Given the description of an element on the screen output the (x, y) to click on. 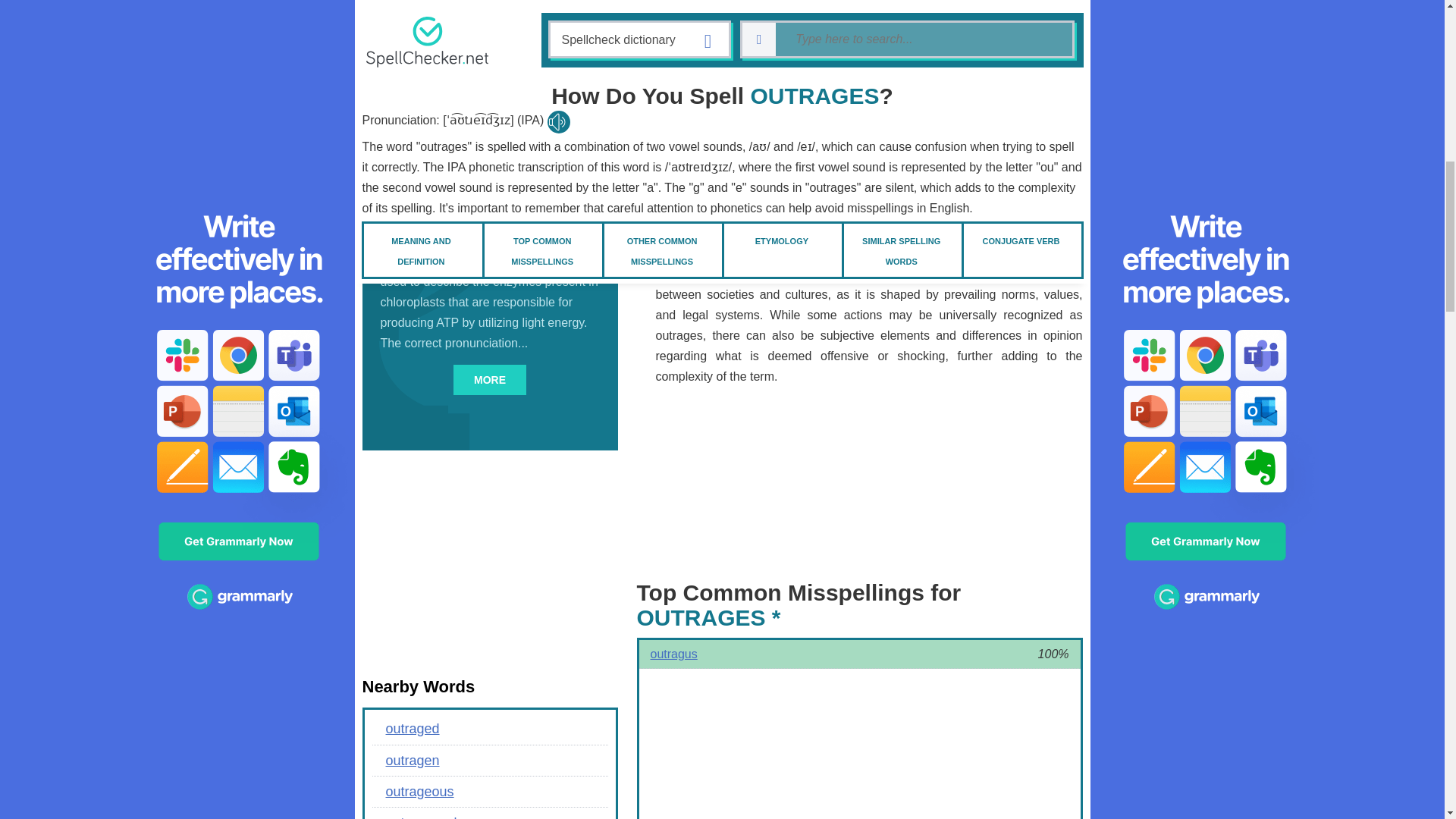
outragus (670, 653)
outraged (489, 728)
outrageously (489, 813)
outrageous (489, 791)
outragen (489, 760)
MORE (488, 379)
